Given the description of an element on the screen output the (x, y) to click on. 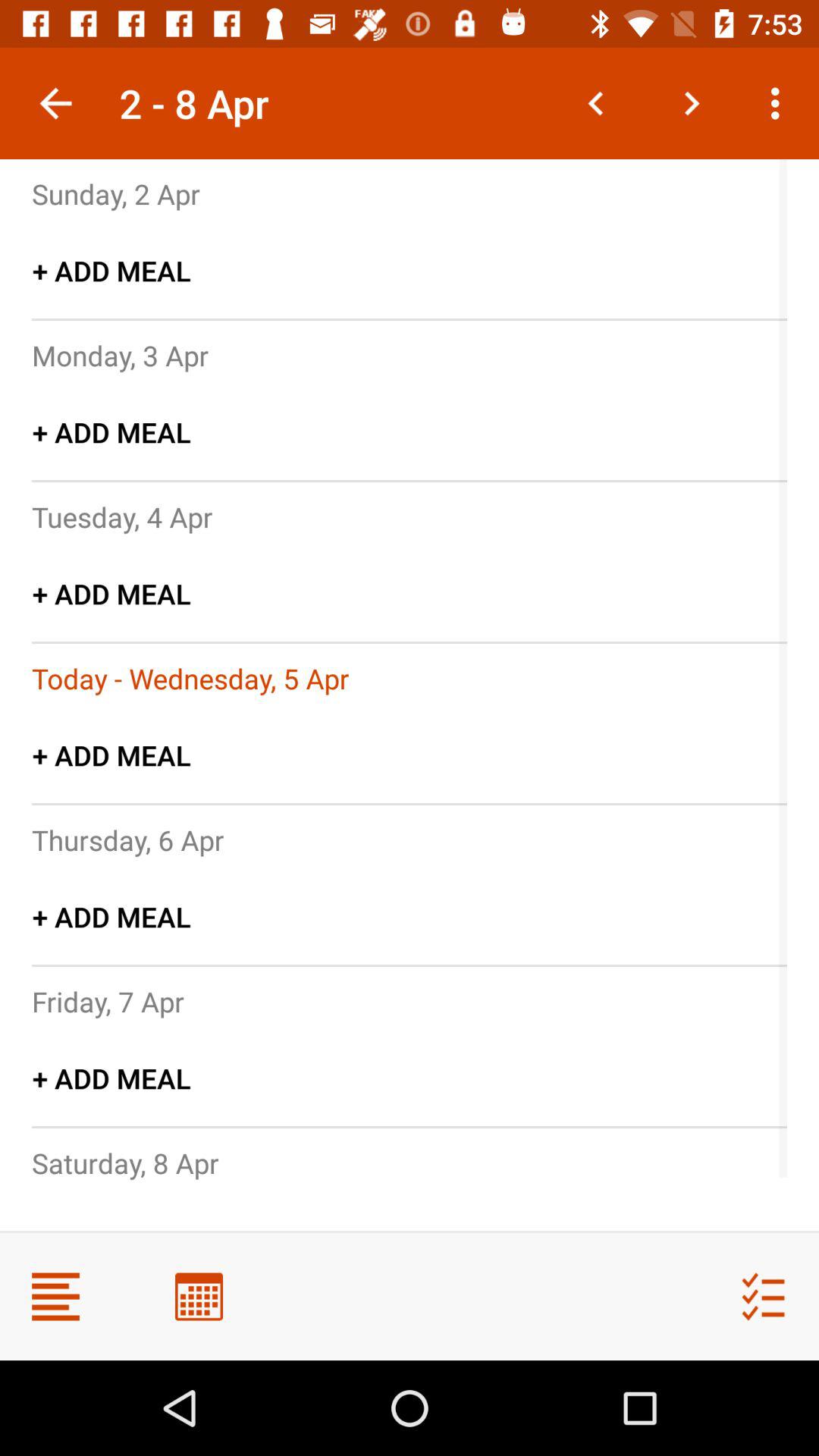
launch the sunday, 2 apr icon (115, 193)
